Given the description of an element on the screen output the (x, y) to click on. 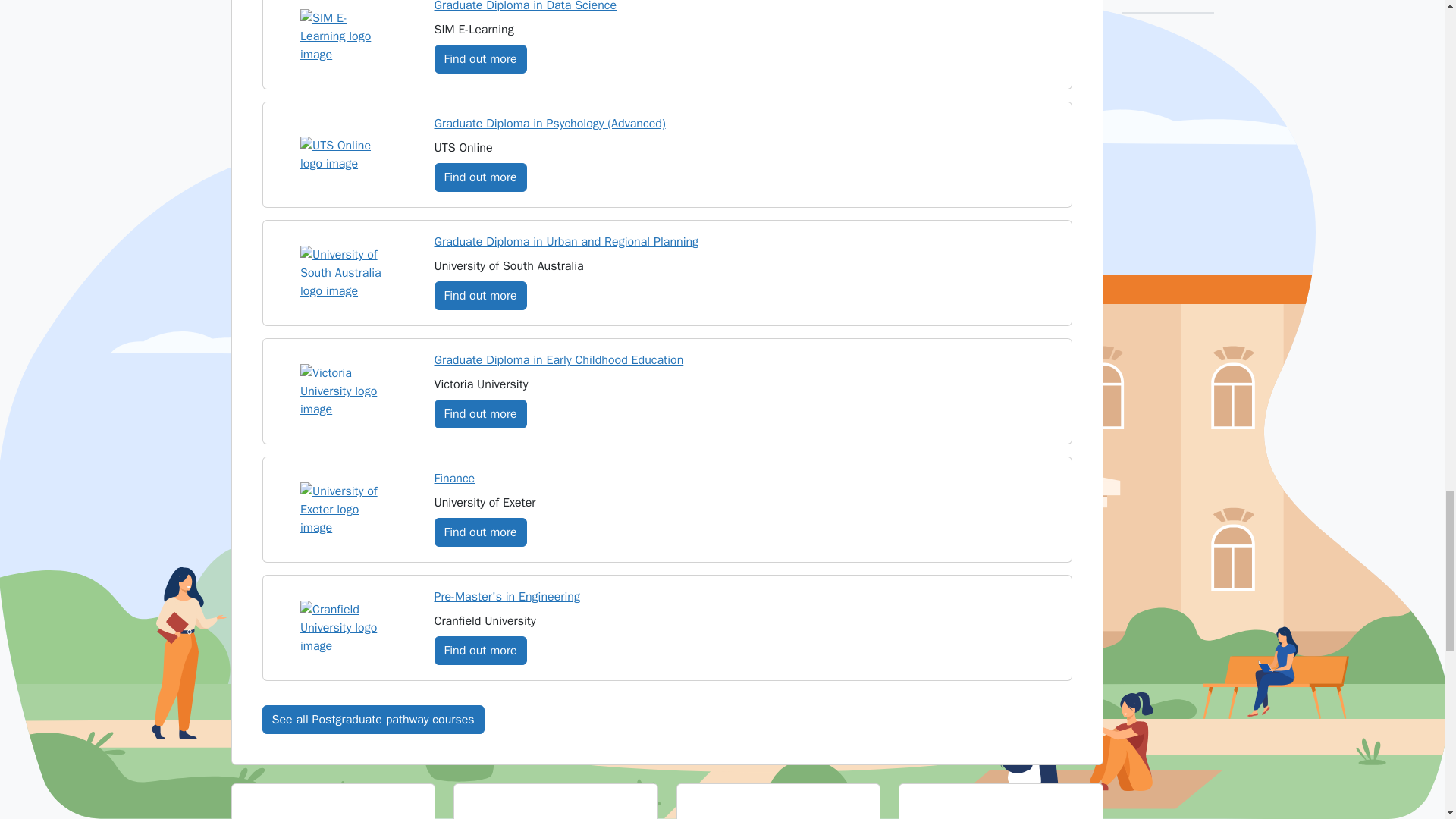
SIM E-Learning (341, 36)
University of South Australia (341, 272)
Victoria University (341, 390)
UTS Online (341, 154)
